Given the description of an element on the screen output the (x, y) to click on. 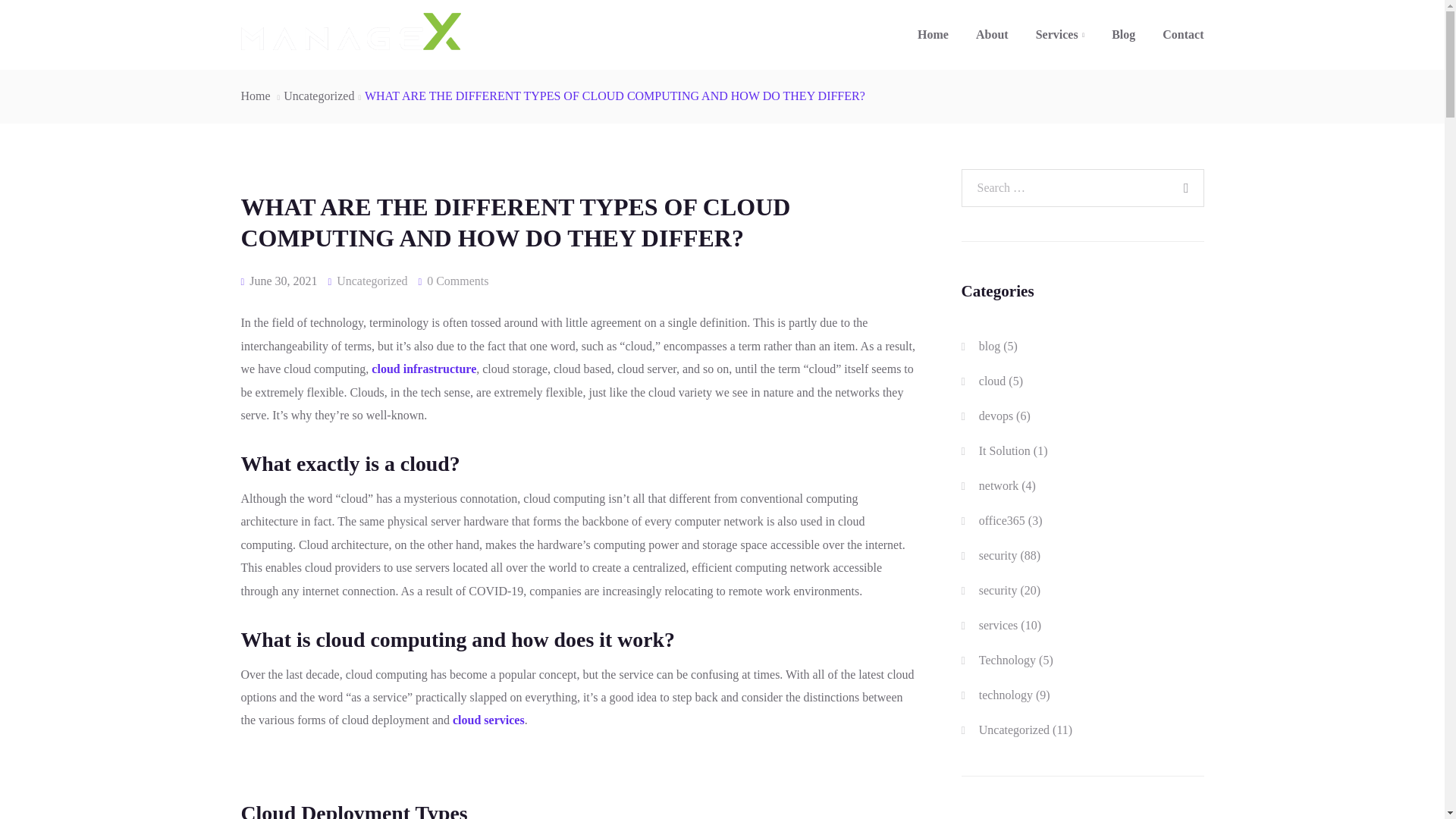
security (997, 554)
security (997, 590)
network (997, 485)
It Solution (1004, 450)
blog (989, 345)
cloud services (488, 719)
0 Comments (456, 280)
services (997, 625)
Home (255, 95)
Technology (1006, 659)
Blog (1123, 34)
Home (932, 34)
Uncategorized (371, 280)
Uncategorized (318, 95)
About (991, 34)
